Given the description of an element on the screen output the (x, y) to click on. 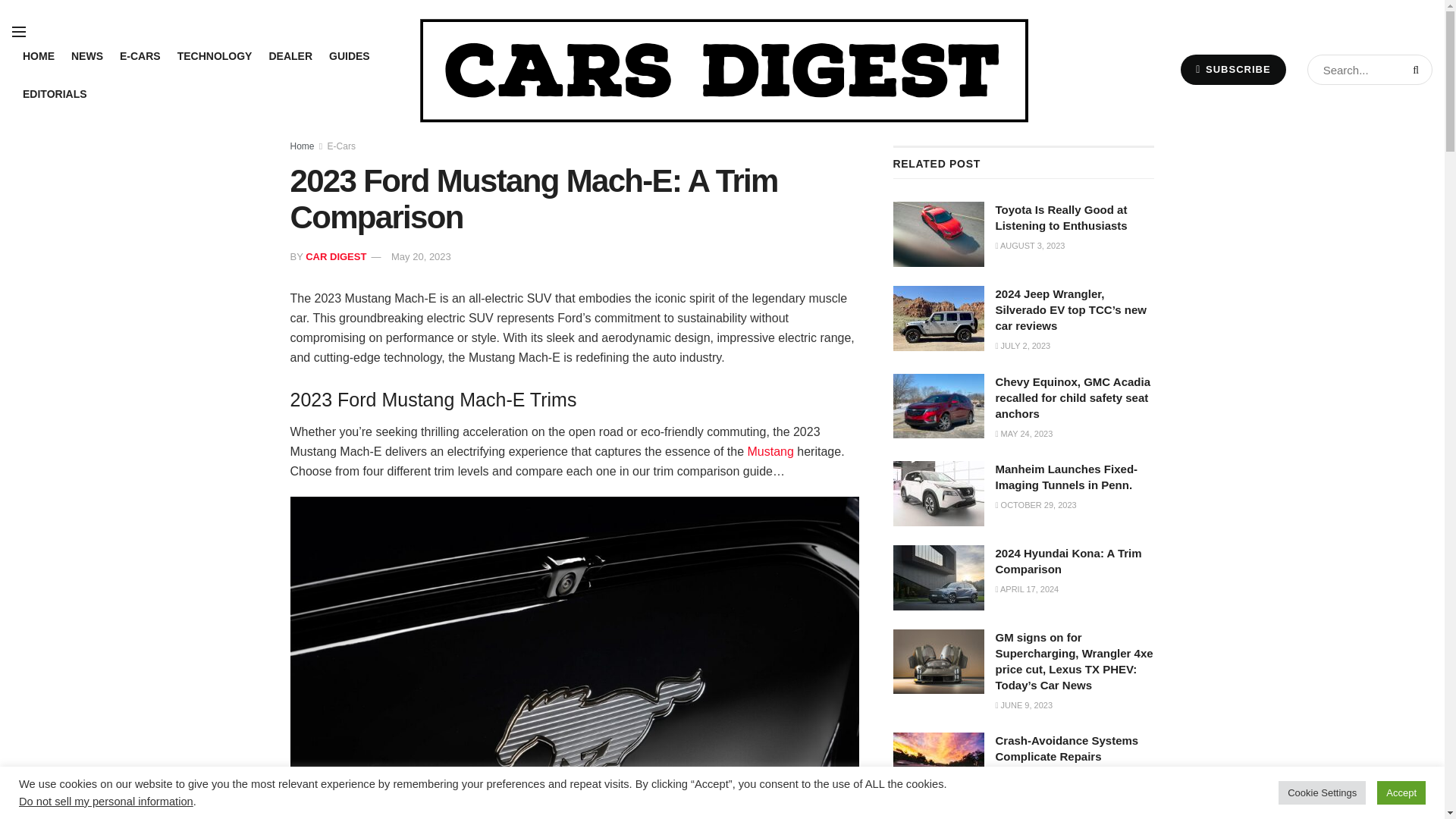
DEALER (290, 55)
Home (301, 145)
GUIDES (349, 55)
E-Cars (341, 145)
May 20, 2023 (421, 256)
CAR DIGEST (335, 256)
EDITORIALS (55, 94)
SUBSCRIBE (1232, 69)
TECHNOLOGY (214, 55)
E-CARS (139, 55)
Mustang (770, 451)
